Given the description of an element on the screen output the (x, y) to click on. 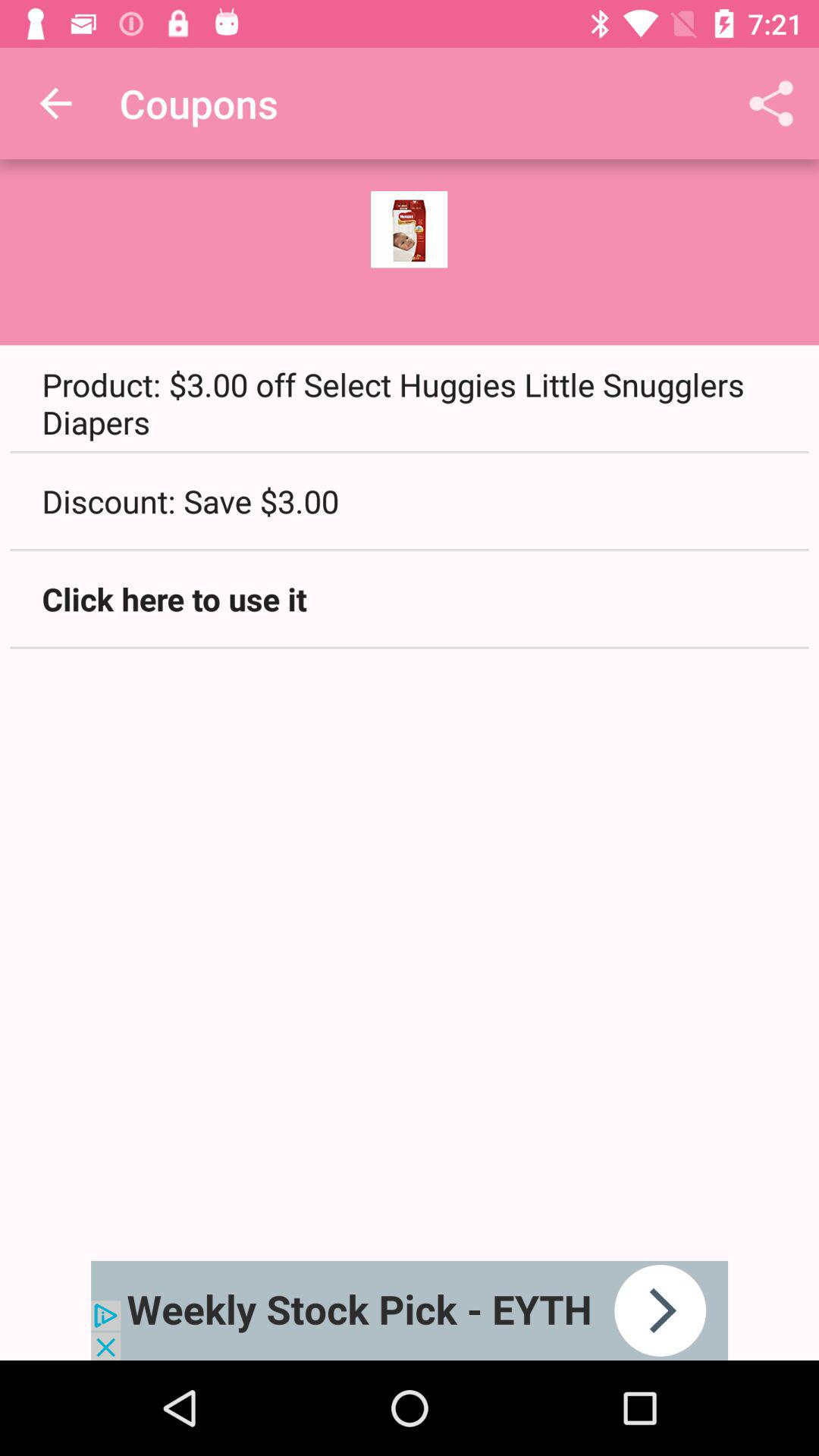
go to next (409, 1310)
